Given the description of an element on the screen output the (x, y) to click on. 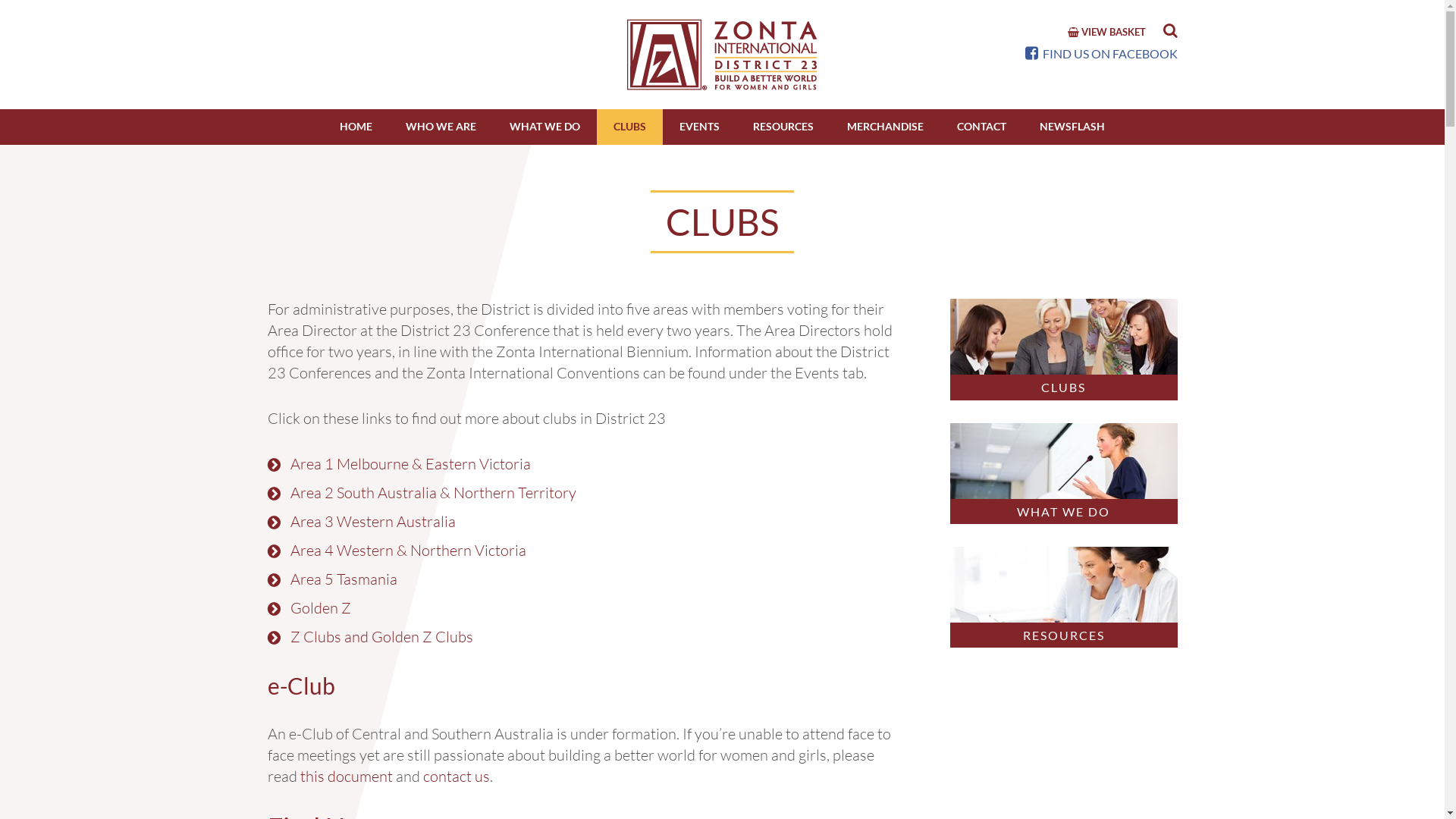
Area 4 Western & Northern Victoria Element type: text (407, 549)
WHAT WE DO Element type: text (544, 126)
NEWSFLASH Element type: text (1071, 126)
HOME Element type: text (356, 126)
RESOURCES Element type: text (1062, 596)
Golden Z Element type: text (319, 607)
WHO WE ARE Element type: text (440, 126)
WHAT WE DO Element type: text (1062, 473)
contact us Element type: text (456, 775)
CONTACT Element type: text (981, 126)
FIND US ON FACEBOOK Element type: text (1101, 53)
VIEW BASKET Element type: text (1106, 31)
Area 2 South Australia & Northern Territory Element type: text (432, 492)
CLUBS Element type: text (629, 126)
Area 3 Western Australia Element type: text (372, 520)
RESOURCES Element type: text (783, 126)
this document Element type: text (346, 775)
Area 1 Melbourne & Eastern Victoria Element type: text (409, 463)
EVENTS Element type: text (699, 126)
Z Clubs and Golden Z Clubs Element type: text (380, 636)
Area 5 Tasmania Element type: text (342, 578)
MERCHANDISE Element type: text (885, 126)
CLUBS Element type: text (1062, 348)
